Given the description of an element on the screen output the (x, y) to click on. 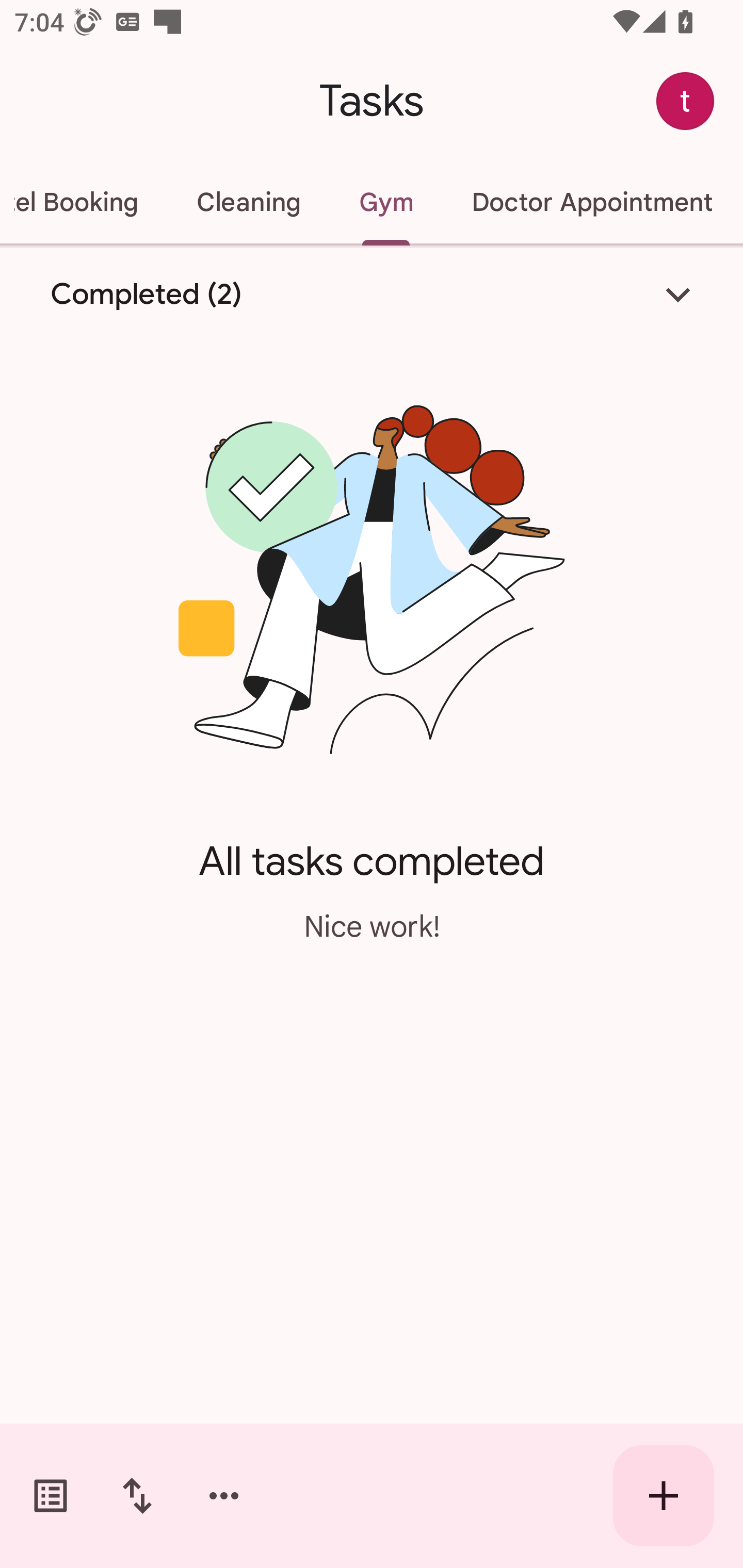
Cleaning (248, 202)
Doctor Appointment (591, 202)
Completed (2) (371, 294)
Switch task lists (50, 1495)
Create new task (663, 1495)
Change sort order (136, 1495)
More options (223, 1495)
